Given the description of an element on the screen output the (x, y) to click on. 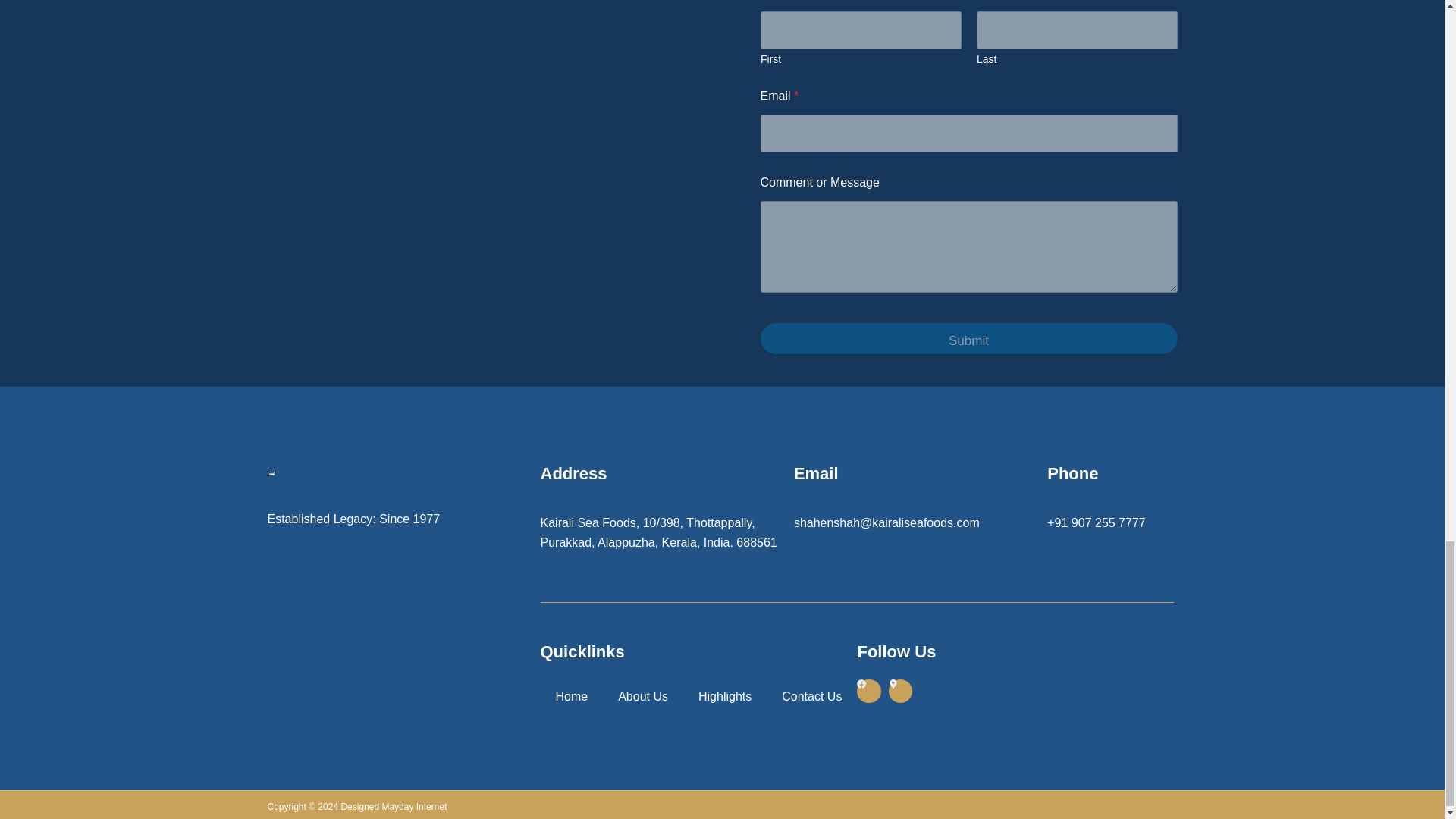
Contact Us (812, 696)
Highlights (724, 696)
Submit (968, 337)
Home (571, 696)
About Us (642, 696)
